Given the description of an element on the screen output the (x, y) to click on. 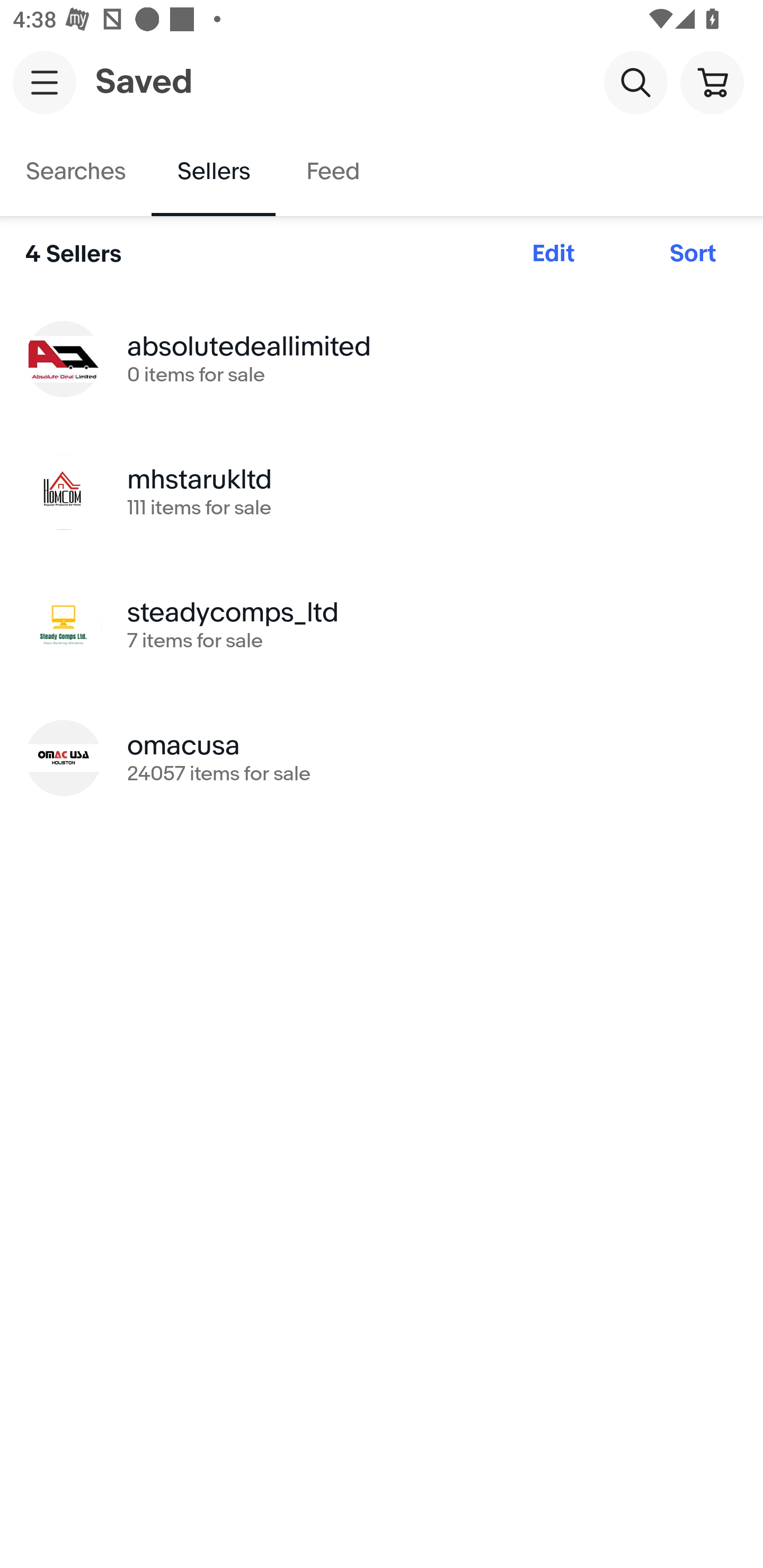
Main navigation, open (44, 82)
Search (635, 81)
Cart button shopping cart (711, 81)
Searches (75, 171)
Feed (332, 171)
Edit (552, 253)
Sort (693, 253)
absolutedeallimited 0 items for sale (381, 357)
mhstarukltd 111 items for sale (381, 491)
steadycomps_ltd 7 items for sale (381, 624)
omacusa 24057 items for sale (381, 757)
